Given the description of an element on the screen output the (x, y) to click on. 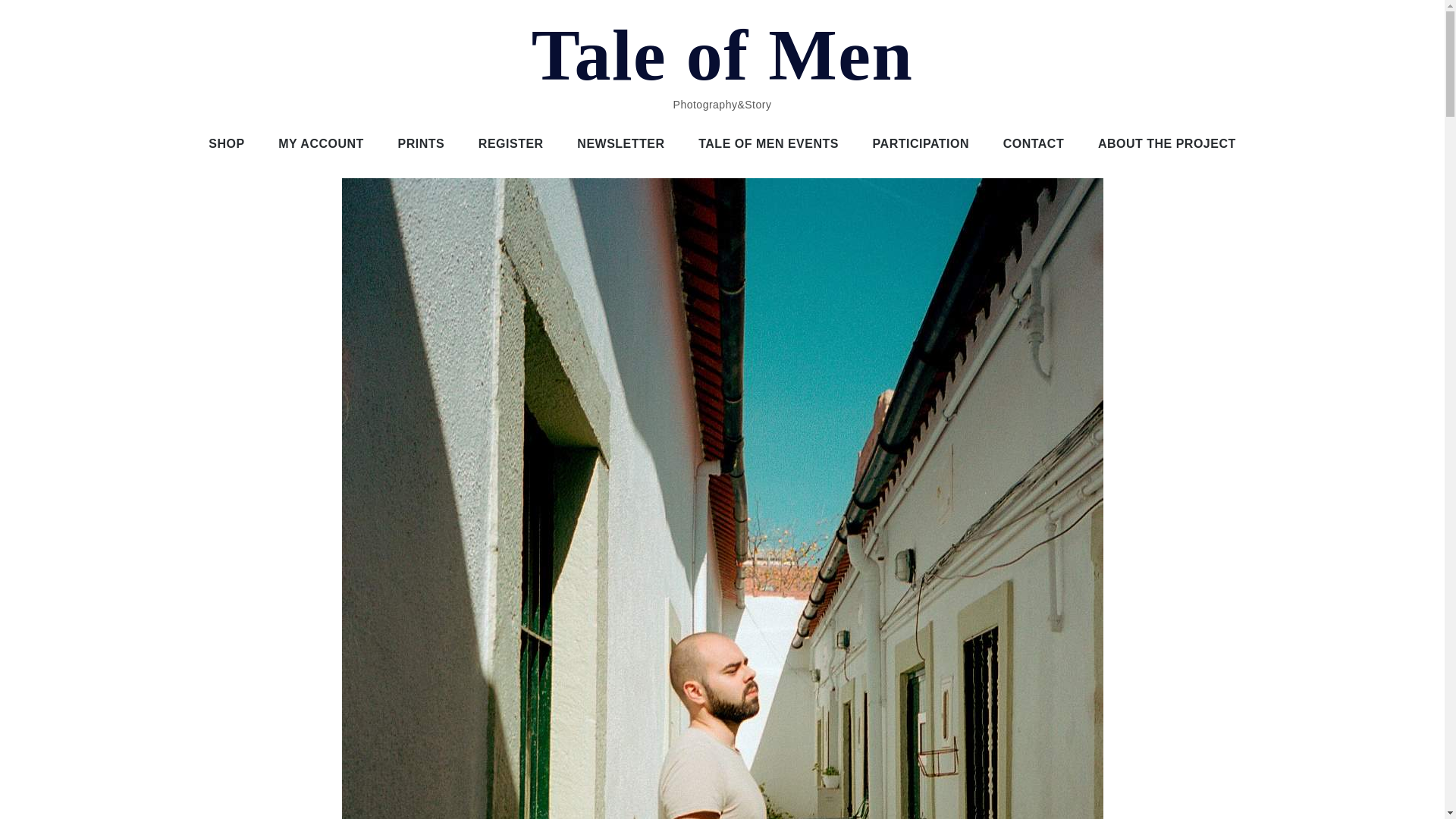
NEWSLETTER (620, 143)
SHOP (226, 143)
MY ACCOUNT (320, 143)
CONTACT (1034, 143)
TALE OF MEN EVENTS (767, 143)
ABOUT THE PROJECT (1166, 143)
Tale of Men (722, 54)
PRINTS (421, 143)
REGISTER (511, 143)
PARTICIPATION (920, 143)
